Given the description of an element on the screen output the (x, y) to click on. 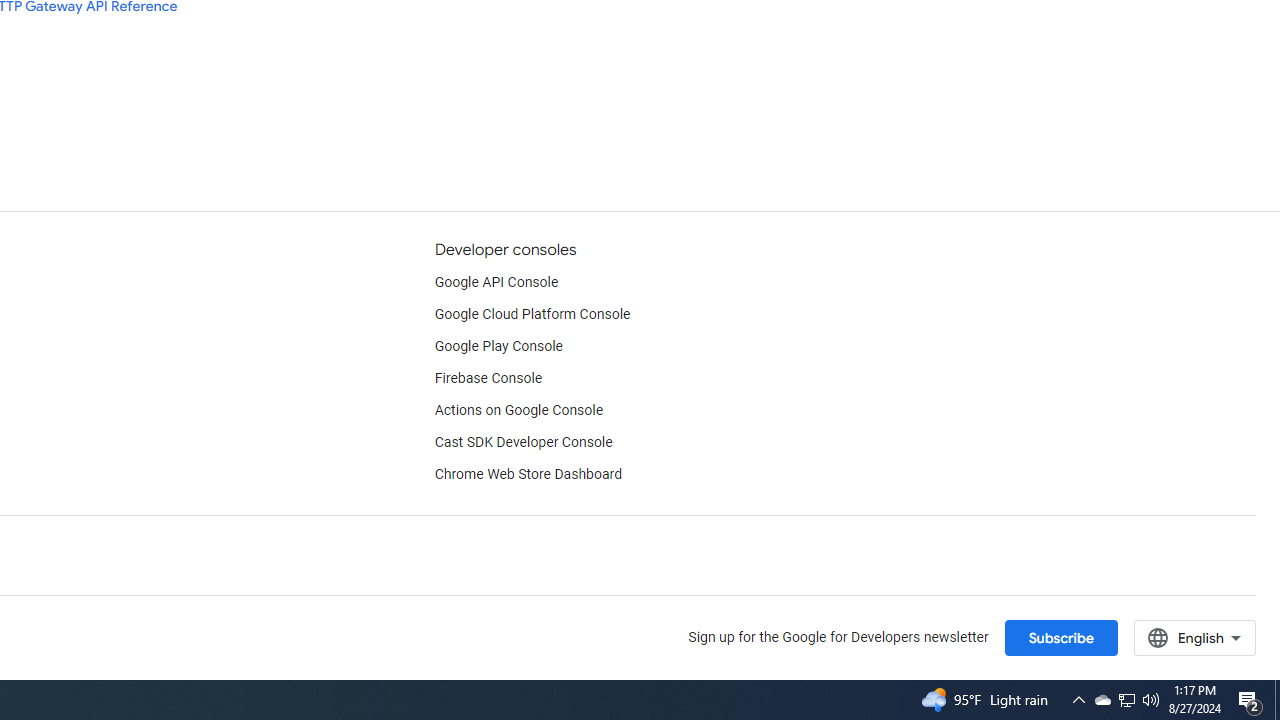
Google API Console (496, 282)
Firebase Console (487, 378)
Actions on Google Console (518, 410)
Chrome Web Store Dashboard (528, 475)
English (1193, 637)
Subscribe (1060, 637)
Google Play Console (498, 346)
Google Cloud Platform Console (532, 314)
Cast SDK Developer Console (523, 442)
